Given the description of an element on the screen output the (x, y) to click on. 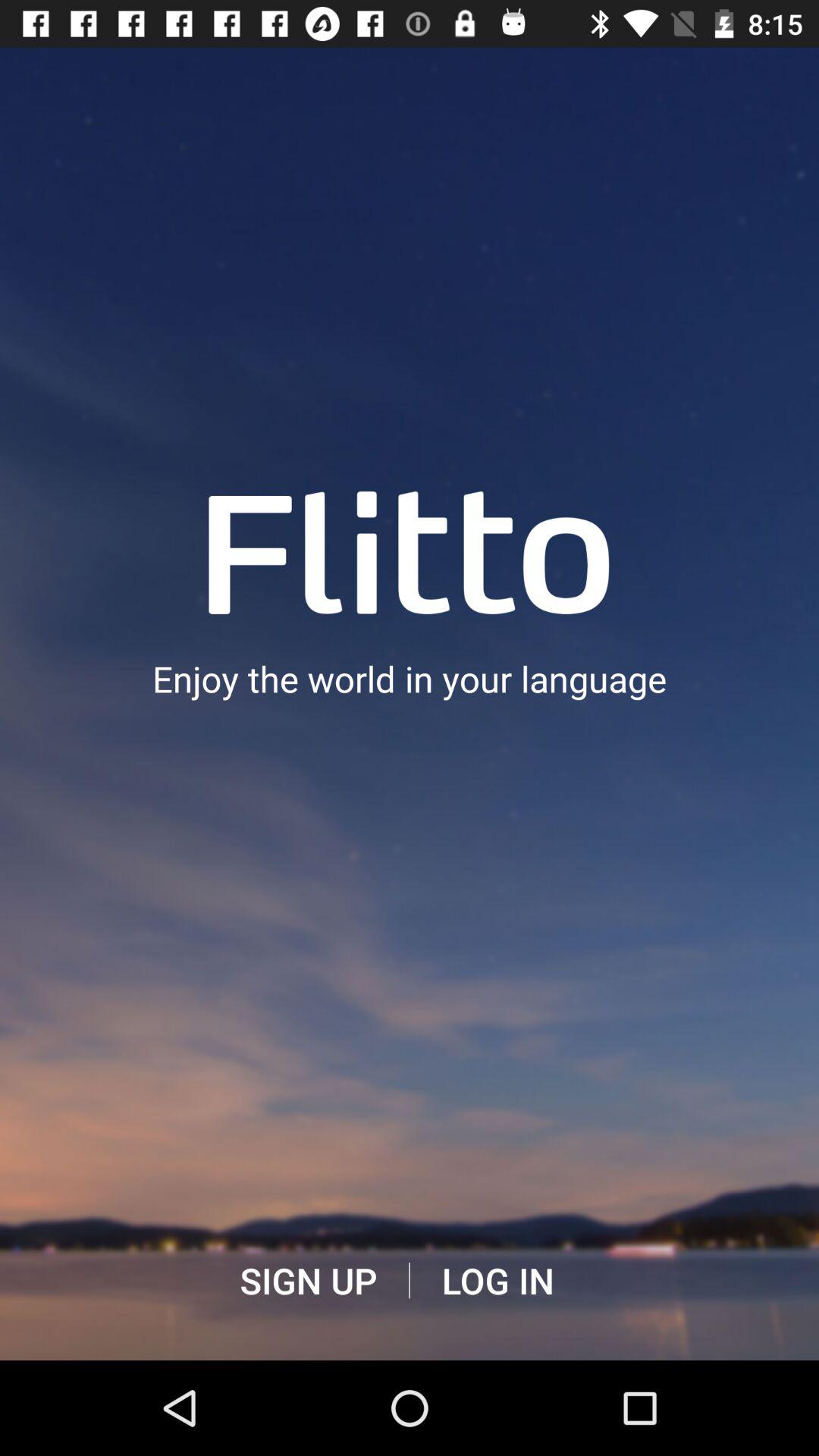
jump to the log in (498, 1280)
